Given the description of an element on the screen output the (x, y) to click on. 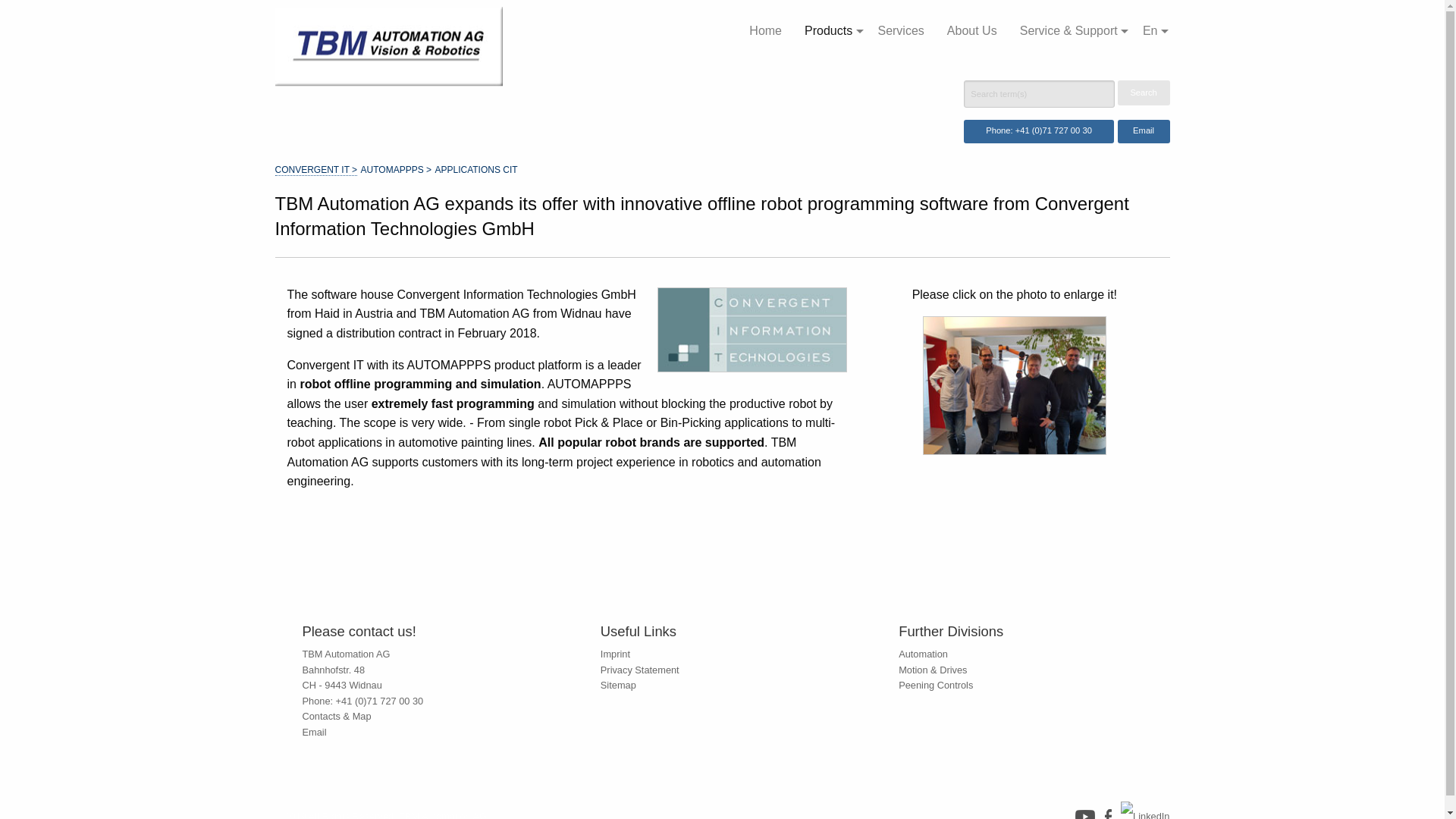
Products (829, 30)
Search (1144, 92)
Search (1144, 92)
Home (765, 30)
Convergent Information Technologies GmbH (752, 329)
